Given the description of an element on the screen output the (x, y) to click on. 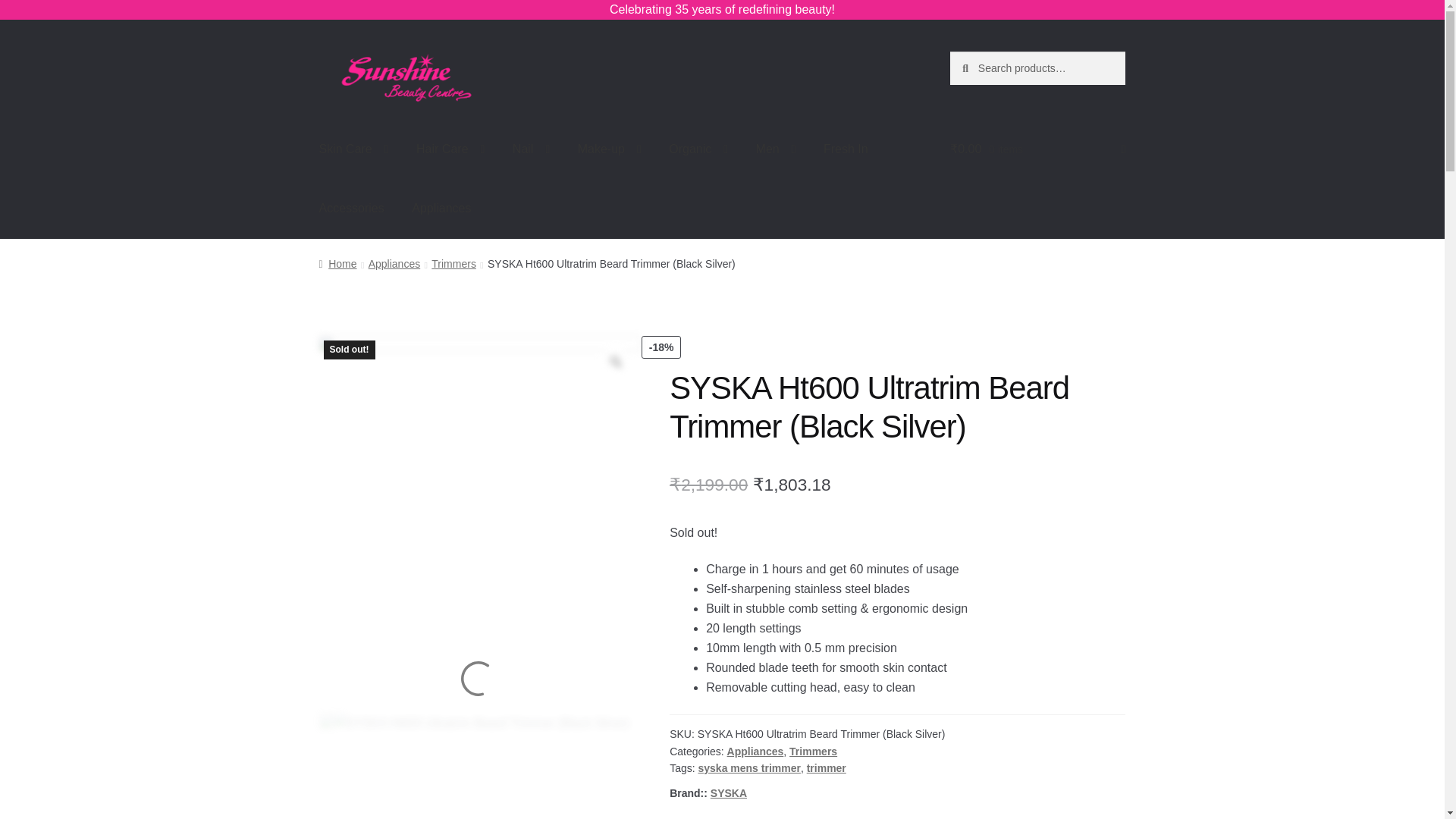
Nail (531, 149)
Skin Care (354, 149)
Make-up (609, 149)
Organic (697, 149)
View your shopping cart (1037, 149)
Syska-HT600-Beard-Trimmer-Silver-SDL895860915-3-cb359 (326, 720)
Hair Care (450, 149)
